Given the description of an element on the screen output the (x, y) to click on. 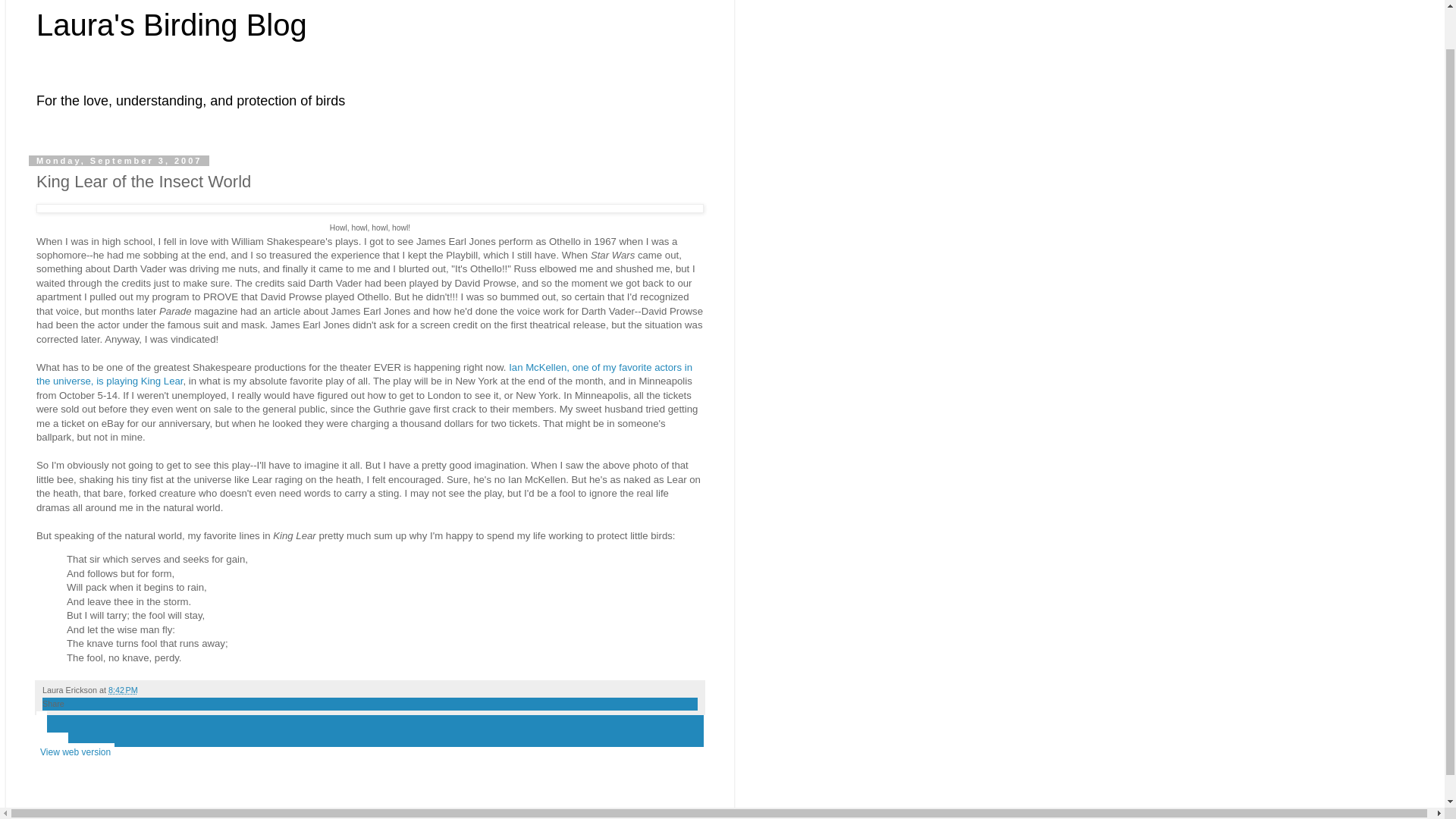
Home (52, 741)
Share (53, 703)
permanent link (122, 689)
Laura's Birding Blog (171, 24)
Blogger (393, 811)
View web version (75, 751)
